Given the description of an element on the screen output the (x, y) to click on. 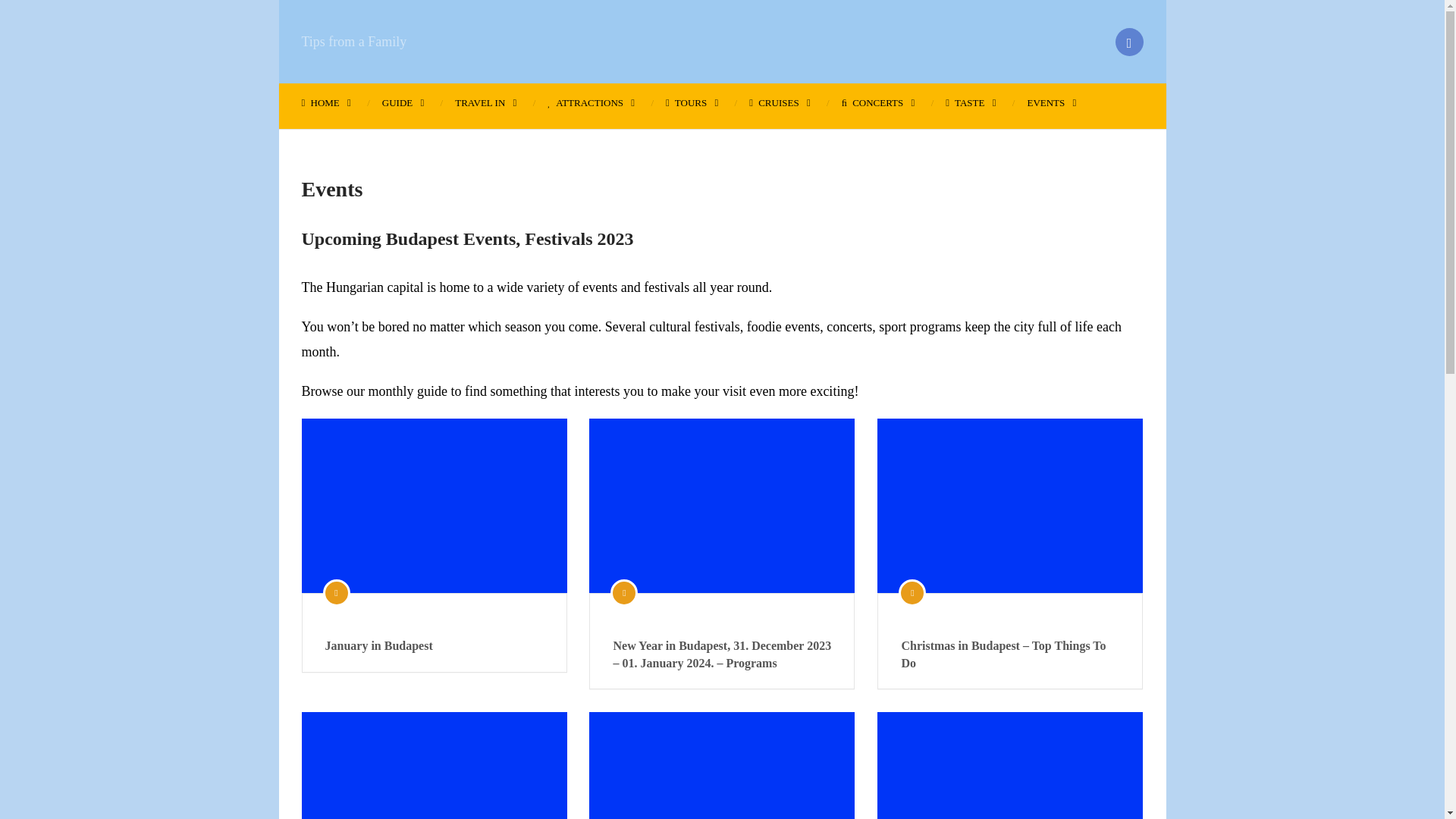
TRAVEL IN (485, 102)
ATTRACTIONS (590, 102)
January in Budapest (433, 646)
TOURS (691, 102)
Christmas Light Tram in Budapest (721, 765)
January in Budapest (434, 505)
HOME (333, 102)
CRUISES (779, 102)
Christmas Market By Budapest Basilica (1009, 765)
GUIDE (402, 102)
